Given the description of an element on the screen output the (x, y) to click on. 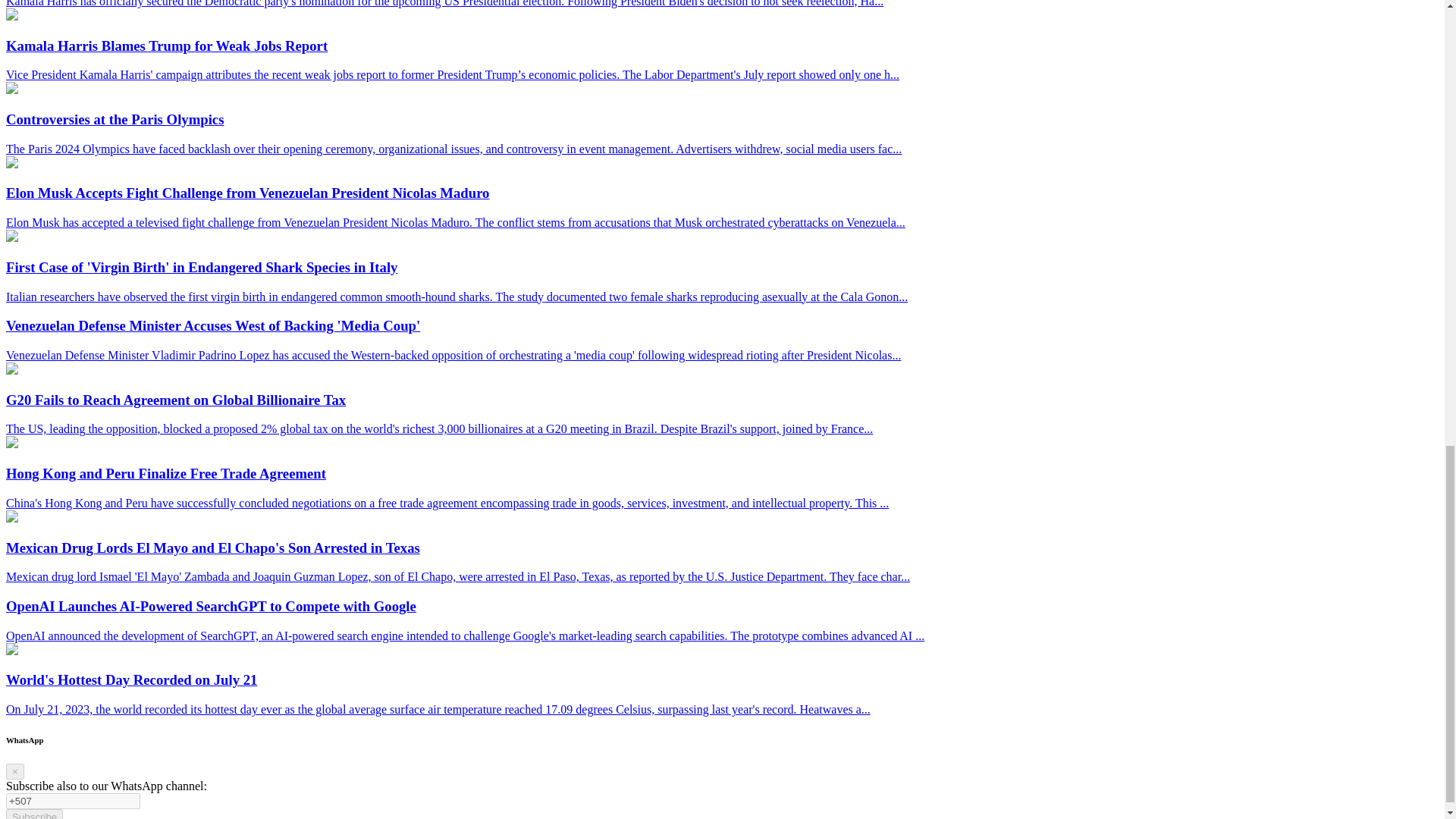
Hong Kong and Peru Finalize Free Trade Agreement (11, 443)
G20 Fails to Reach Agreement on Global Billionaire Tax (11, 369)
Controversies at the Paris Olympics (11, 89)
Kamala Harris Blames Trump for Weak Jobs Report (11, 15)
